Given the description of an element on the screen output the (x, y) to click on. 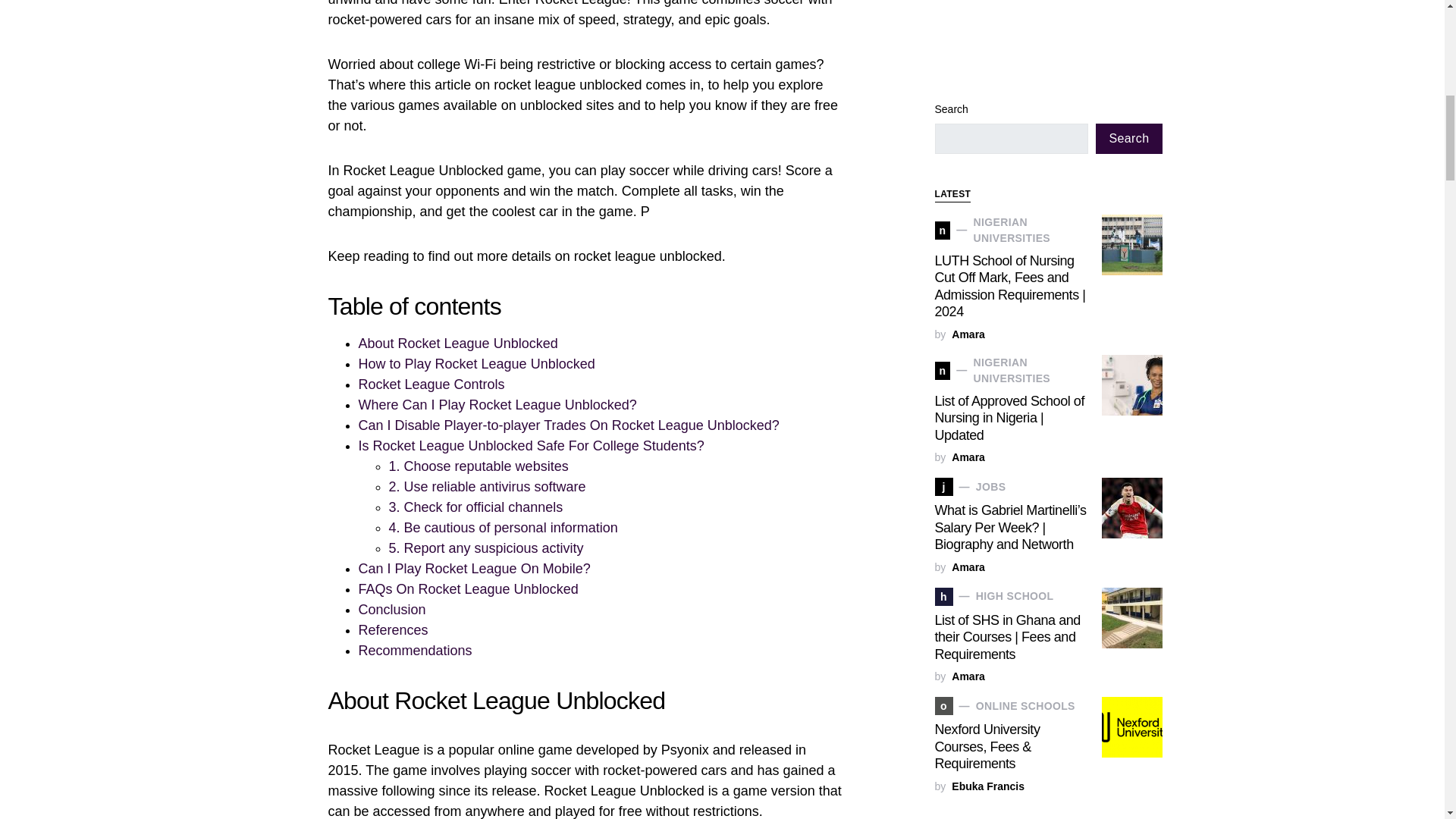
FAQs On Rocket League Unblocked (468, 589)
Rocket League Controls (430, 384)
How to Play Rocket League Unblocked (476, 363)
References (393, 630)
3. Check for official channels (475, 507)
Conclusion (391, 609)
5. Report any suspicious activity (485, 548)
Can I Play Rocket League On Mobile? (473, 568)
2. Use reliable antivirus software (486, 486)
About Rocket League Unblocked (457, 343)
